Given the description of an element on the screen output the (x, y) to click on. 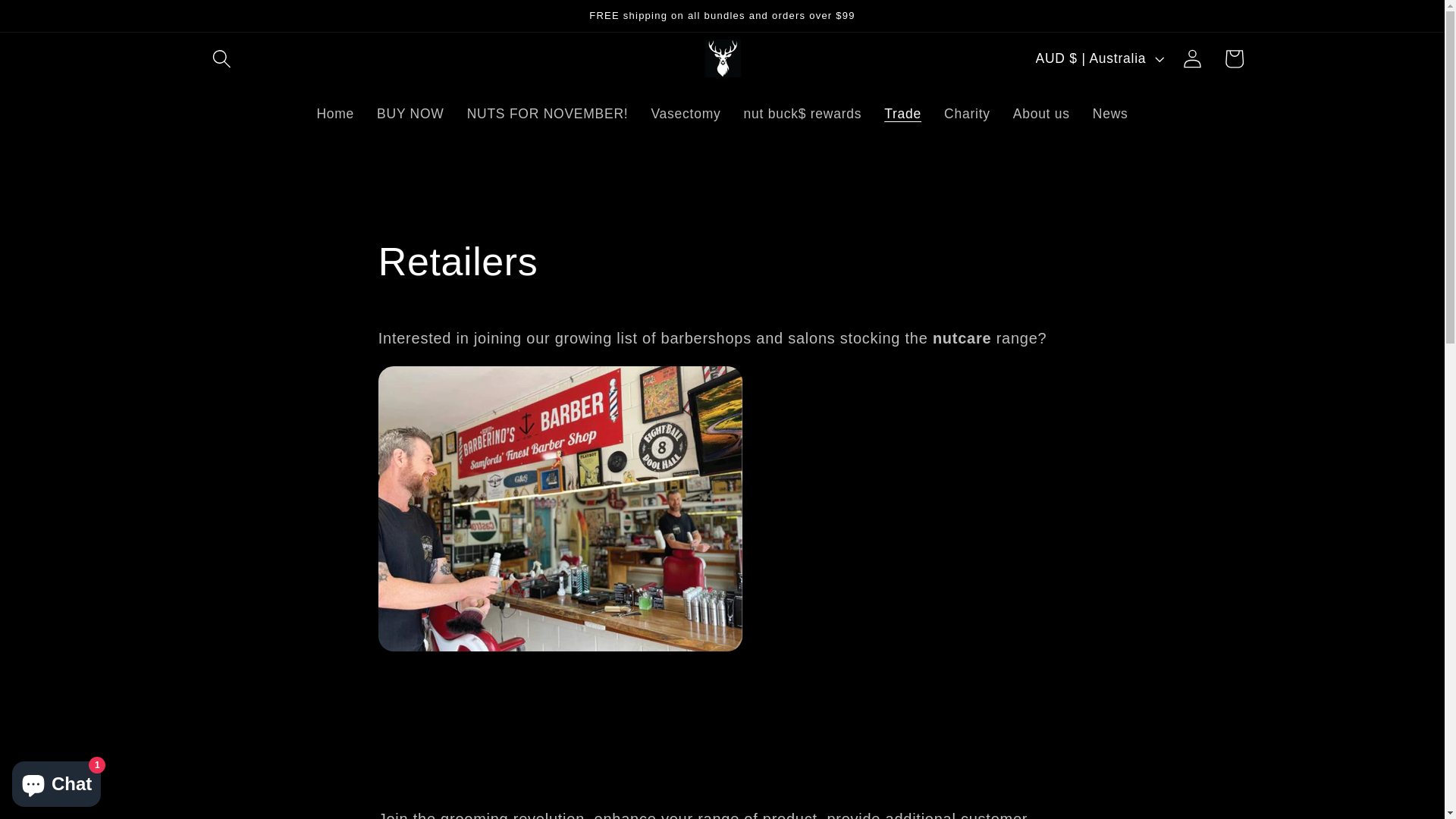
AUD $ | Australia Element type: text (1097, 58)
About us Element type: text (1041, 114)
Charity Element type: text (966, 114)
Log in Element type: text (1192, 58)
Cart Element type: text (1234, 58)
Shopify online store chat Element type: hover (56, 780)
News Element type: text (1110, 114)
nut buck$ rewards Element type: text (801, 114)
BUY NOW Element type: text (410, 114)
Home Element type: text (334, 114)
Trade Element type: text (902, 114)
Vasectomy Element type: text (685, 114)
NUTS FOR NOVEMBER! Element type: text (547, 114)
